Given the description of an element on the screen output the (x, y) to click on. 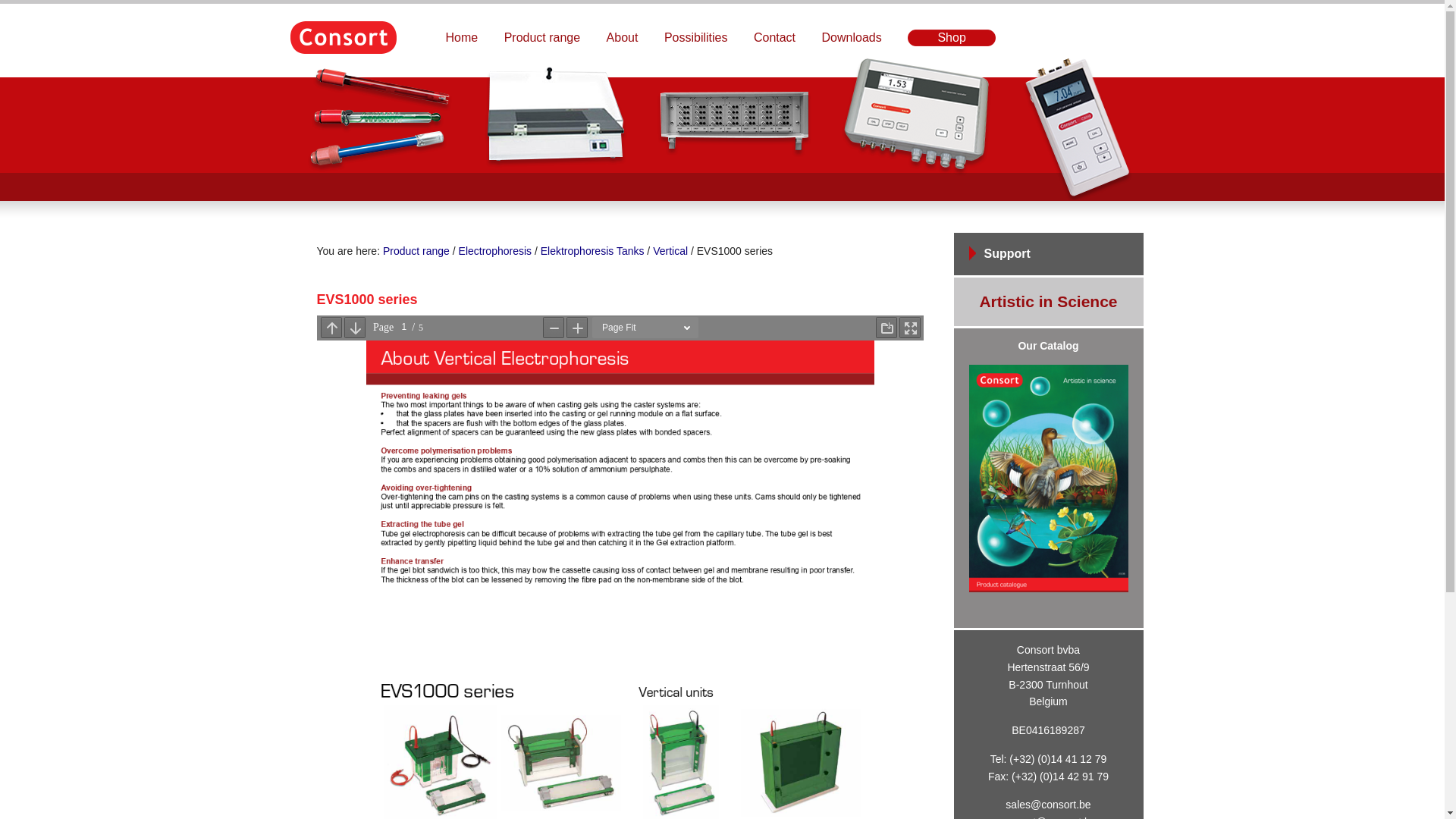
Product range Element type: text (542, 37)
Elektrophoresis Tanks Element type: text (592, 250)
Downloads Element type: text (851, 37)
Electrophoresis Element type: text (495, 250)
Consort bvba Element type: text (342, 37)
About Element type: text (622, 37)
Product range Element type: text (415, 250)
sales@consort.be Element type: text (1047, 804)
Possibilities Element type: text (695, 37)
Home Element type: text (461, 37)
Support Element type: text (1007, 253)
Contact Element type: text (774, 37)
header-foto4 Element type: hover (721, 128)
Vertical Element type: text (669, 250)
Shop Element type: text (951, 37)
